Given the description of an element on the screen output the (x, y) to click on. 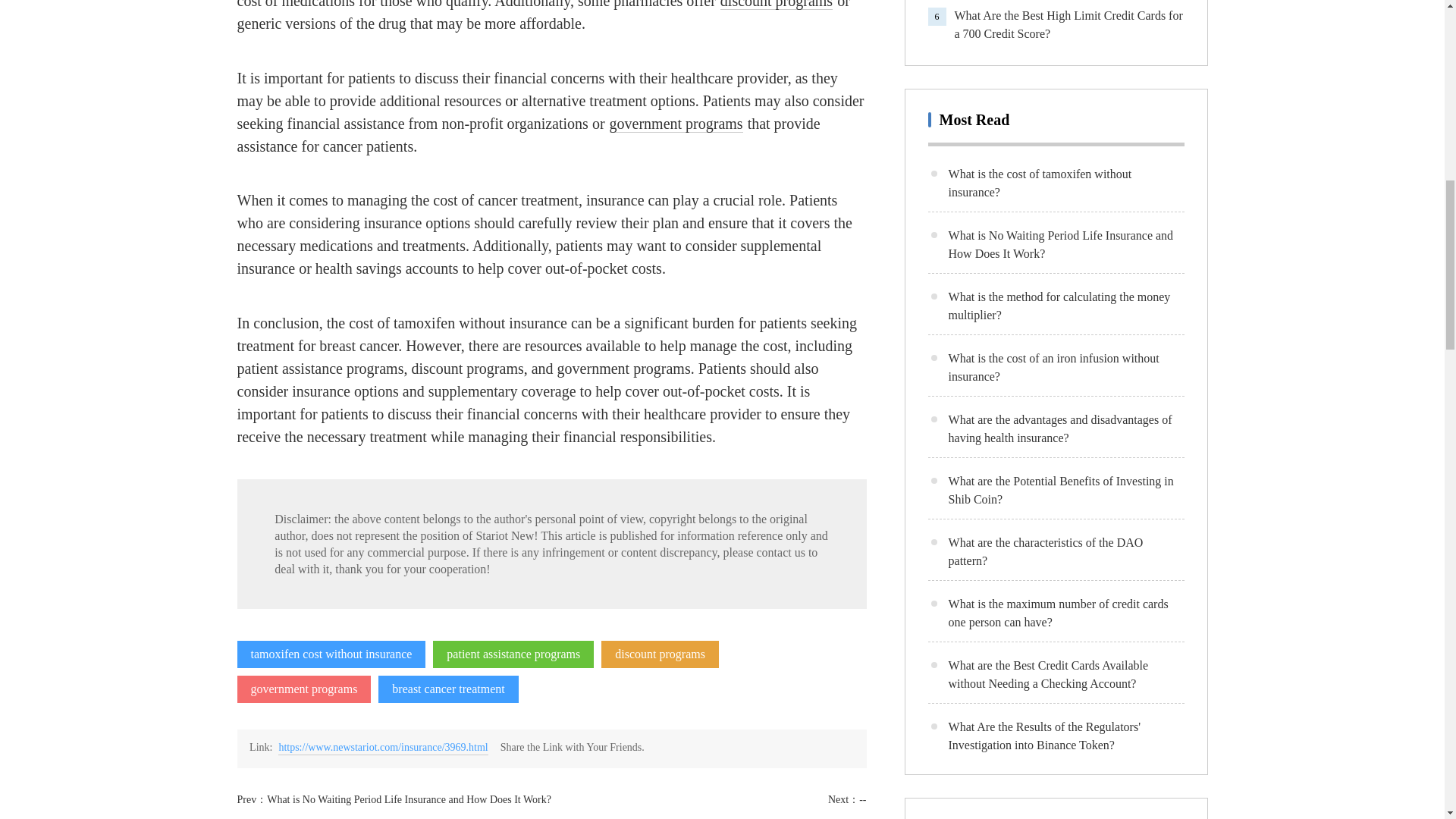
government programs (303, 688)
government programs (676, 123)
discount programs (660, 654)
breast cancer treatment (448, 688)
tamoxifen cost without insurance (330, 654)
government programs (676, 123)
breast cancer treatment (448, 688)
government programs (303, 688)
discount programs (776, 4)
discount programs (660, 654)
patient assistance programs (513, 654)
discount programs (776, 4)
tamoxifen cost without insurance (330, 654)
patient assistance programs (513, 654)
